Given the description of an element on the screen output the (x, y) to click on. 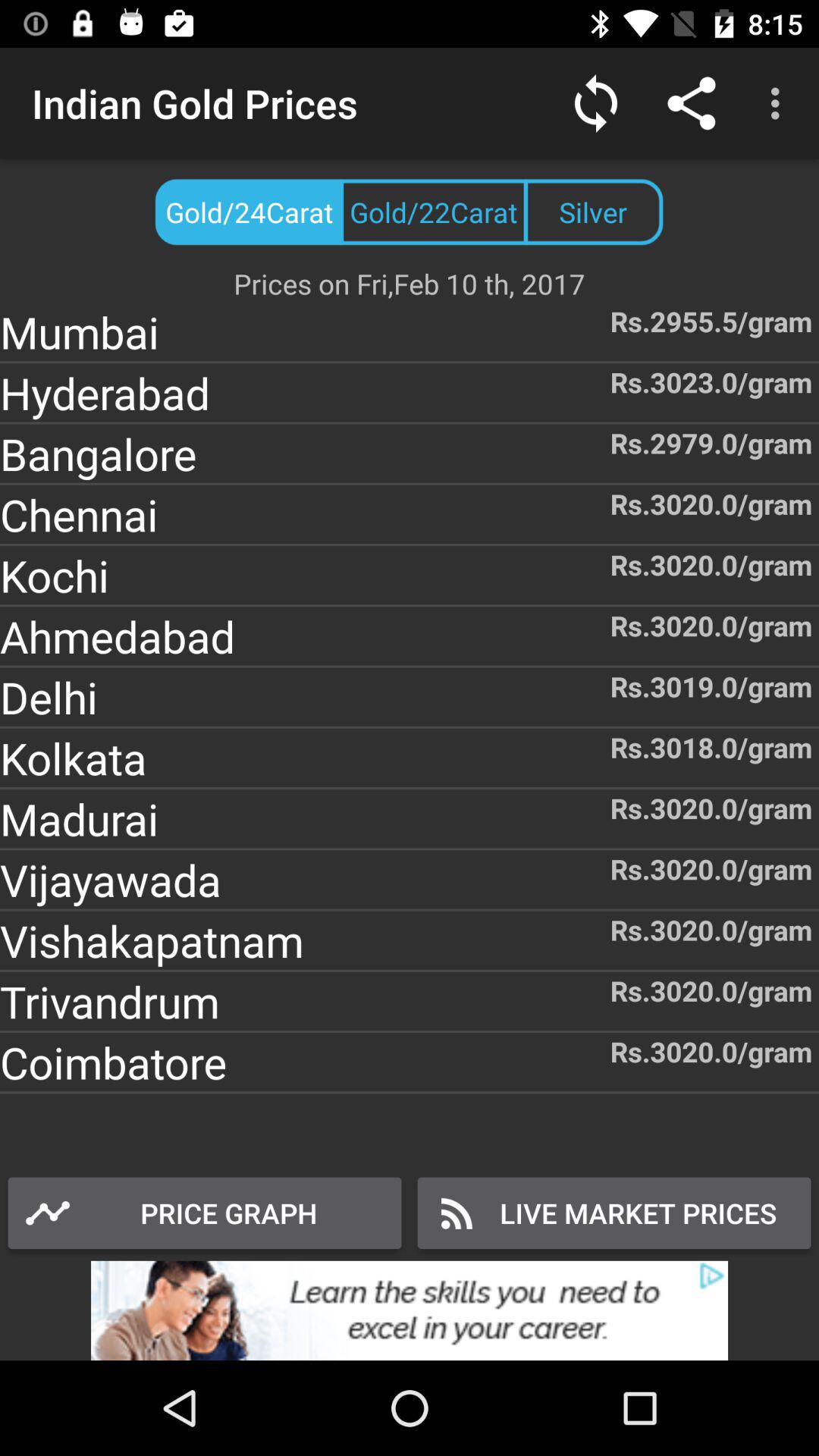
view advertisement (409, 1310)
